Given the description of an element on the screen output the (x, y) to click on. 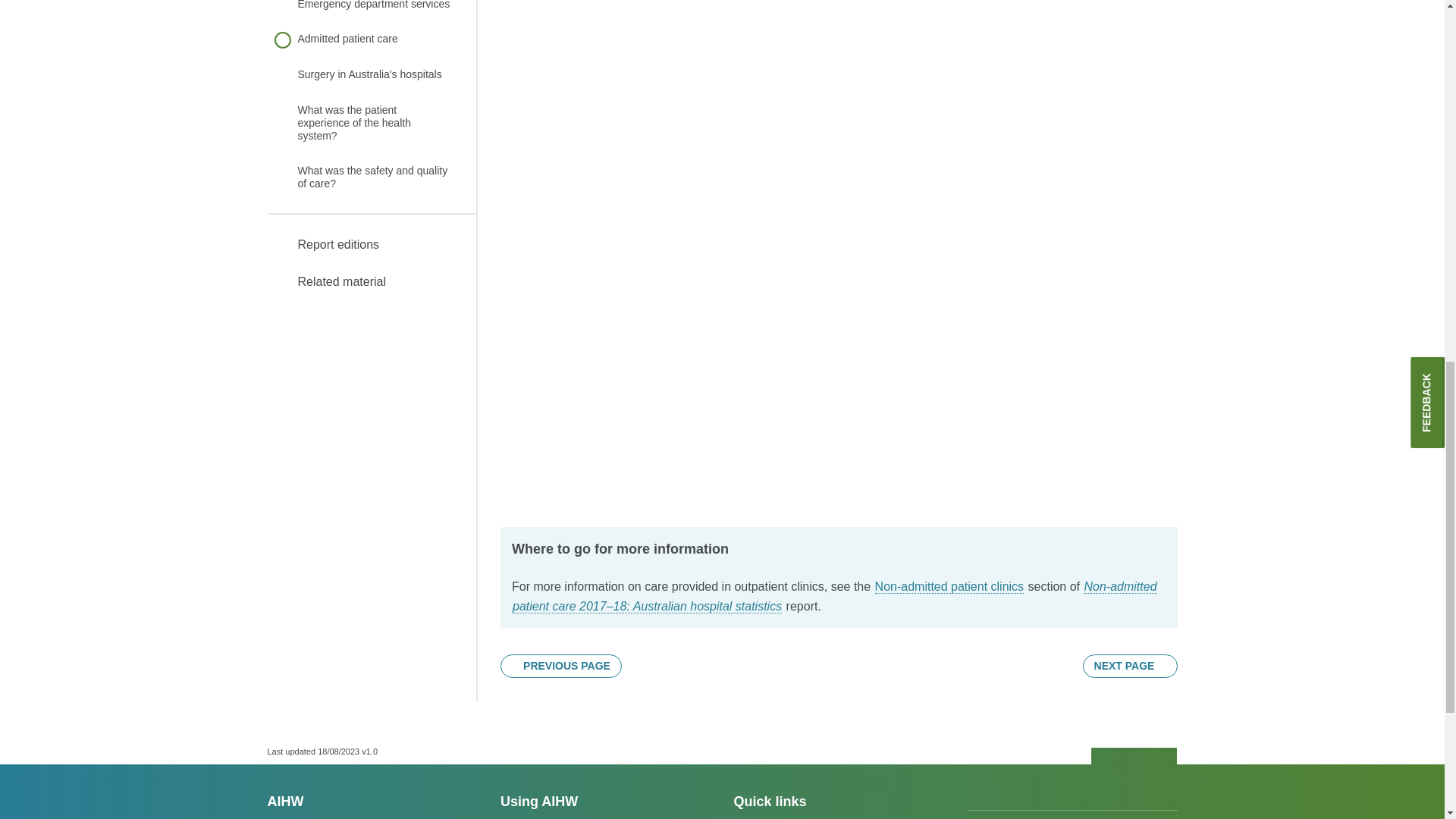
Back to top (1133, 757)
